Given the description of an element on the screen output the (x, y) to click on. 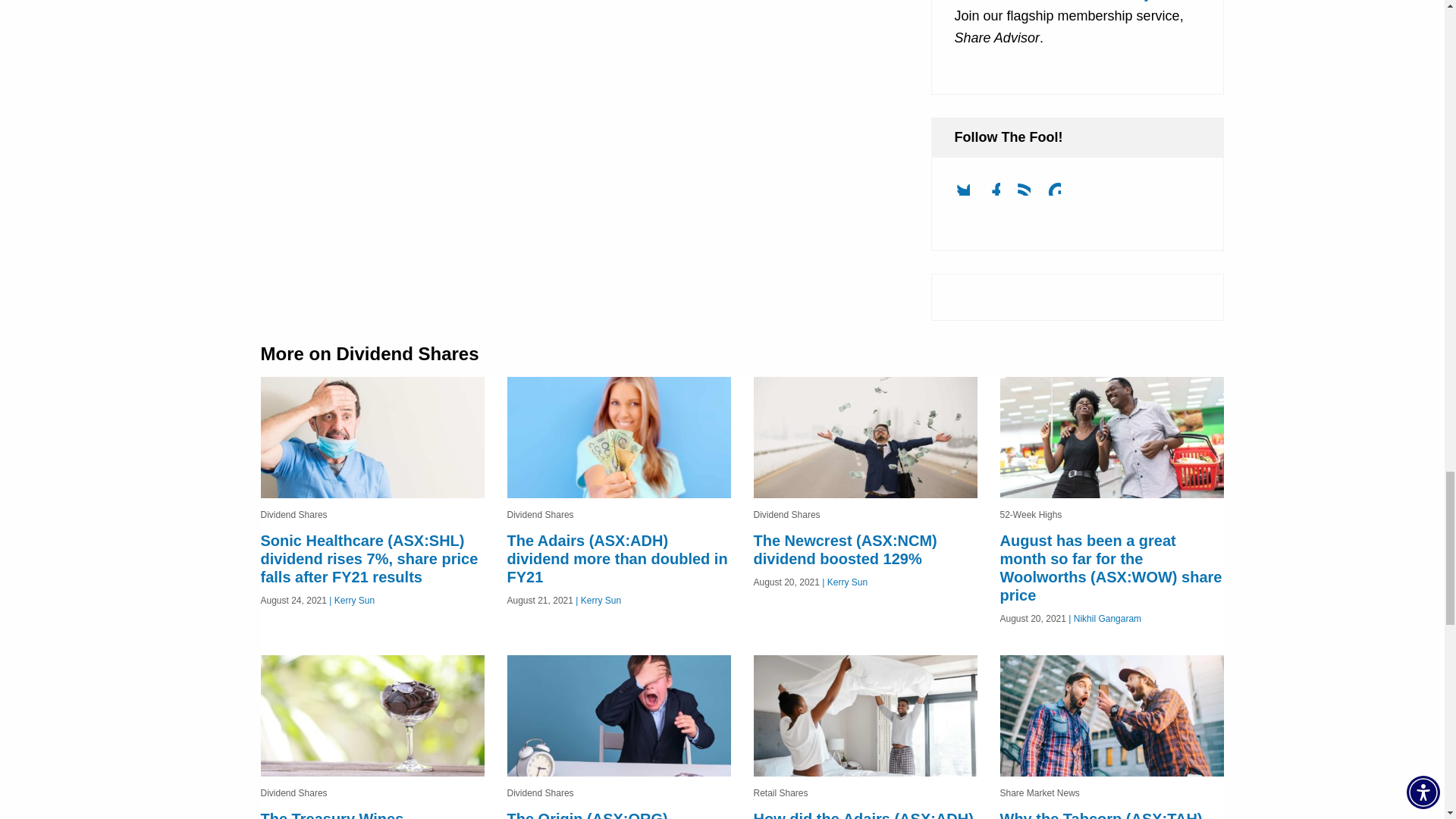
The Motley Fool Google News Feed (1060, 194)
The Motley Fool on Twitter (968, 194)
The Motley Fool RSS Feed (1029, 194)
The Motley Fool on Facebook (999, 194)
